Given the description of an element on the screen output the (x, y) to click on. 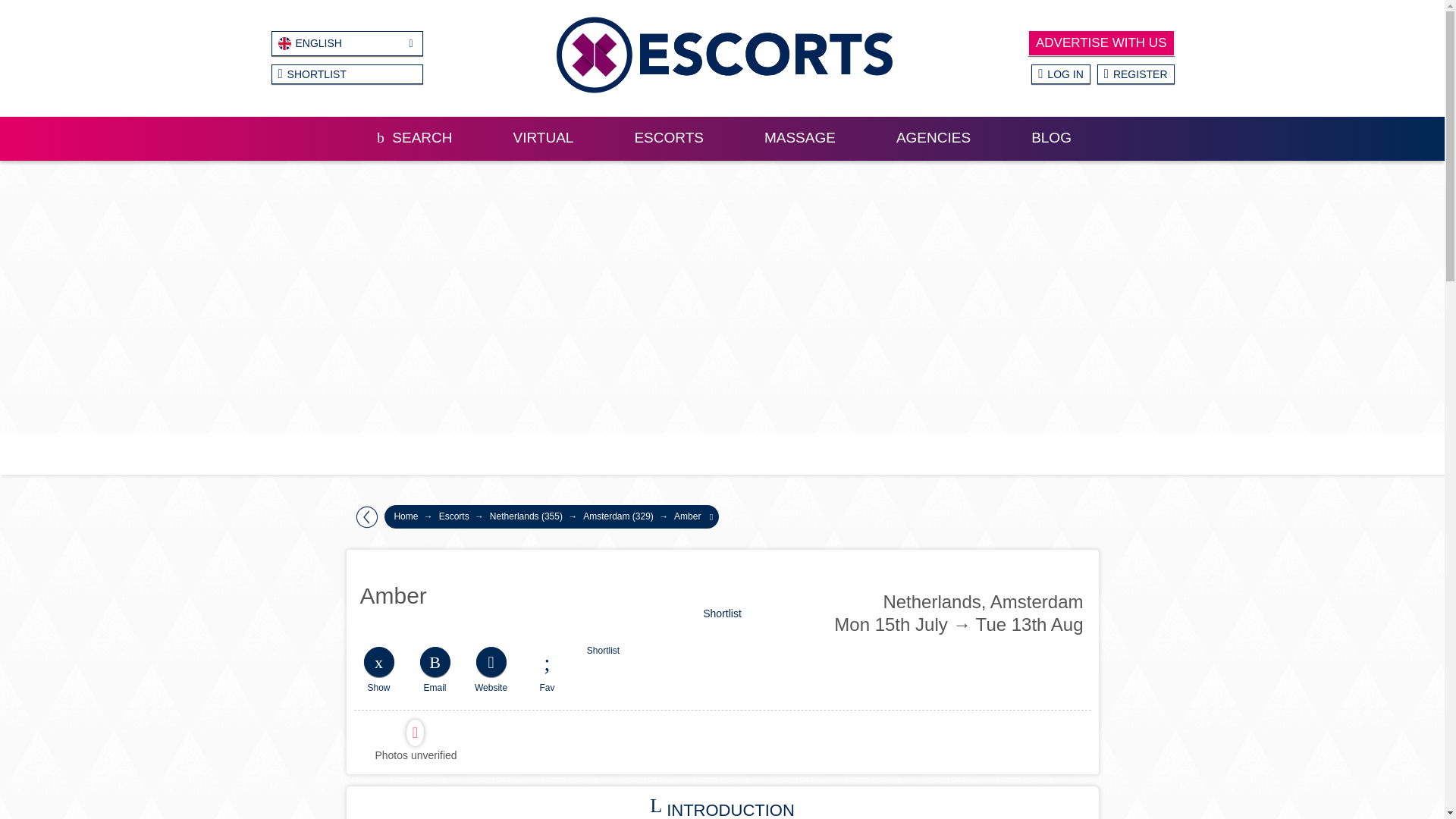
ENGLISH (346, 43)
SHORTLIST (346, 74)
ADVERTISE WITH US (1100, 43)
